Given the description of an element on the screen output the (x, y) to click on. 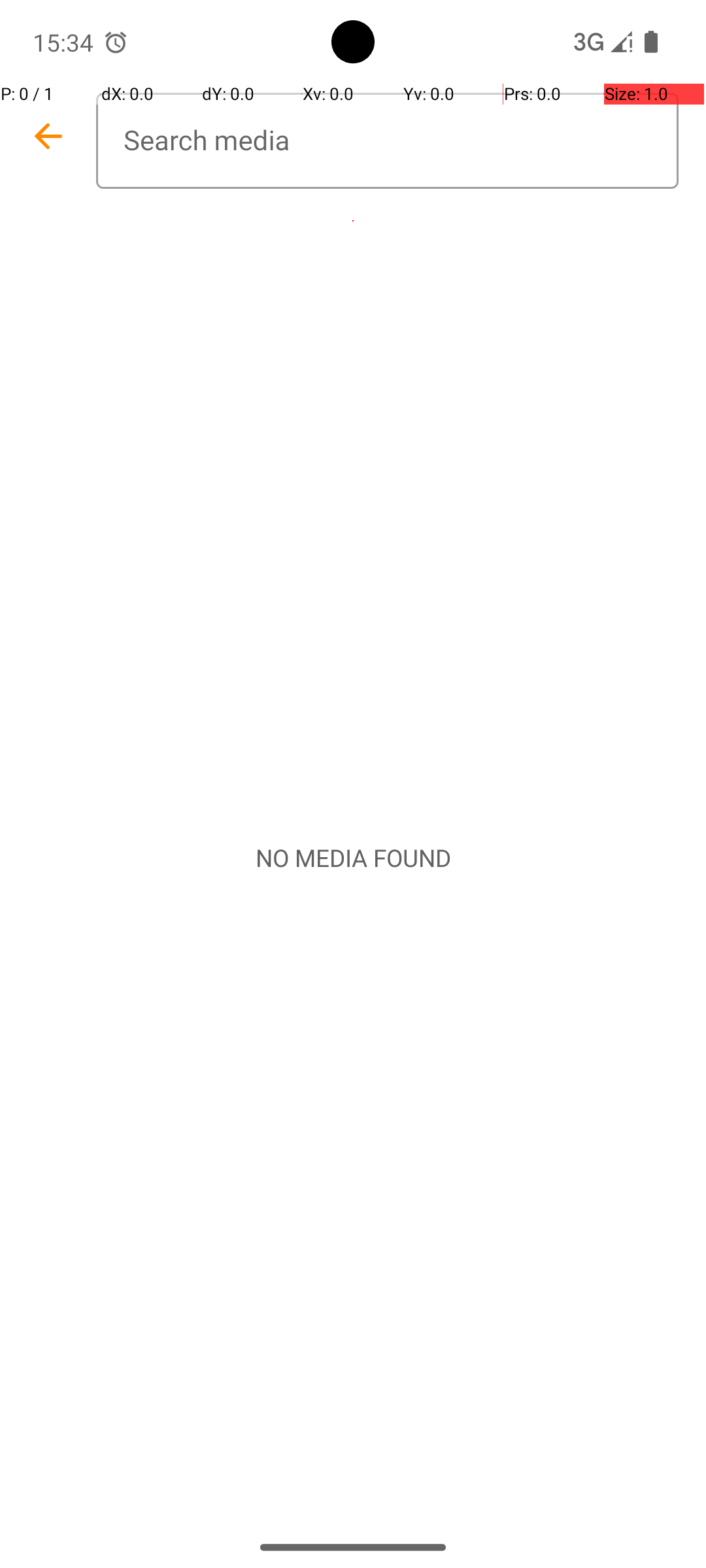
Search media Element type: android.widget.EditText (387, 140)
NO MEDIA FOUND Element type: android.widget.TextView (353, 857)
